Given the description of an element on the screen output the (x, y) to click on. 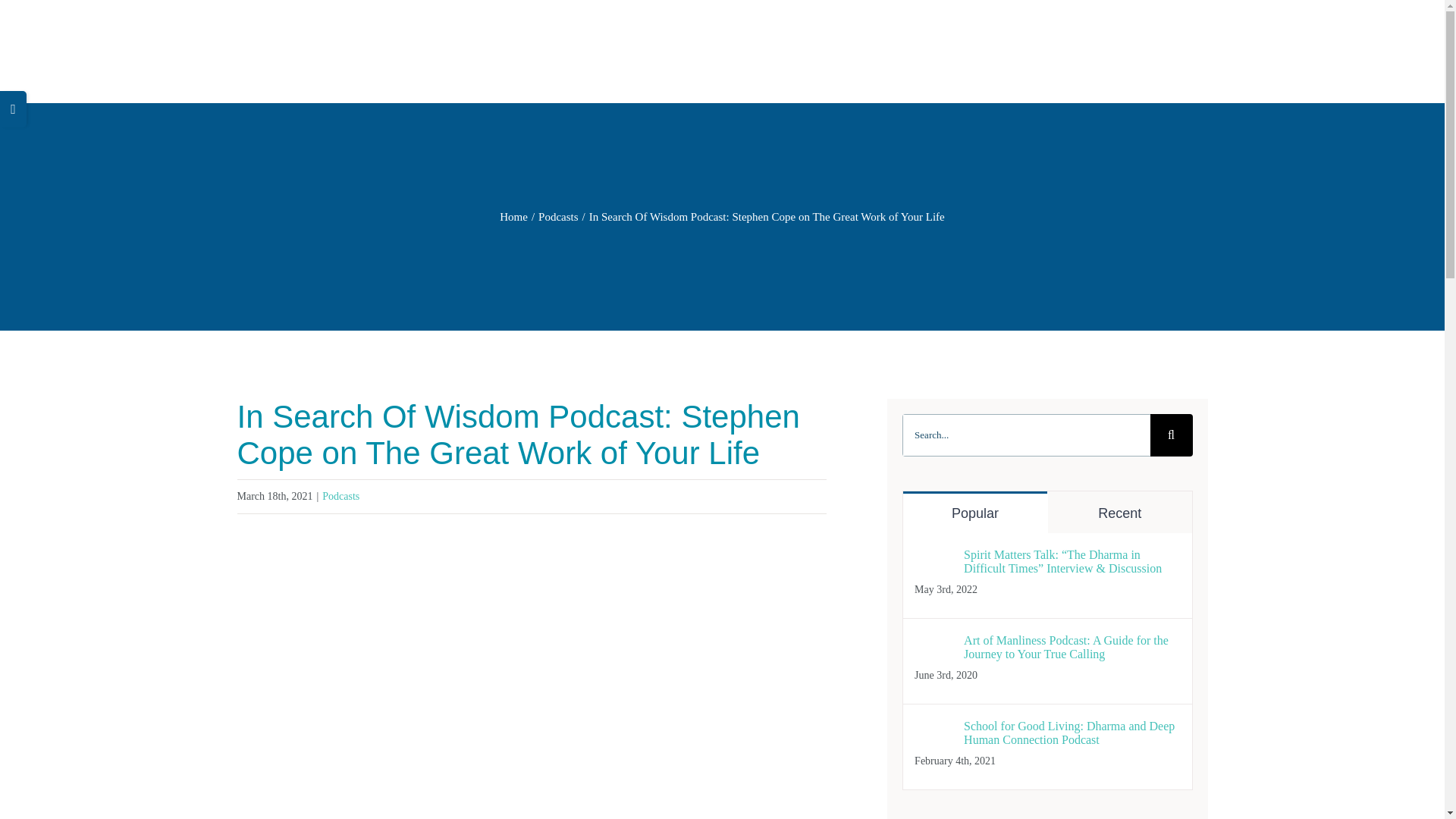
Home (513, 216)
Podcasts (558, 216)
Podcasts (340, 496)
